Given the description of an element on the screen output the (x, y) to click on. 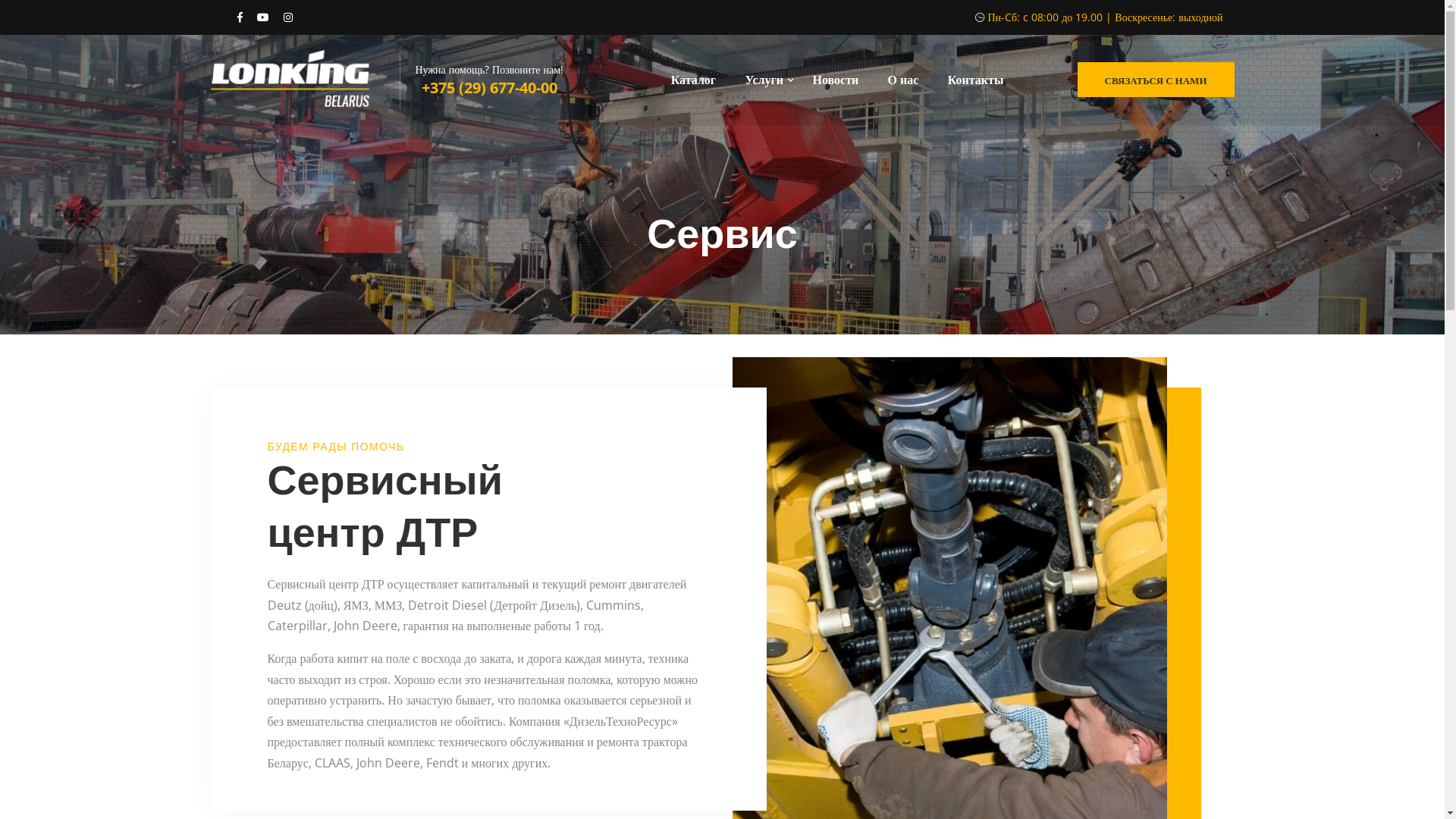
+375 (29) 677-40-00 Element type: text (489, 88)
